Given the description of an element on the screen output the (x, y) to click on. 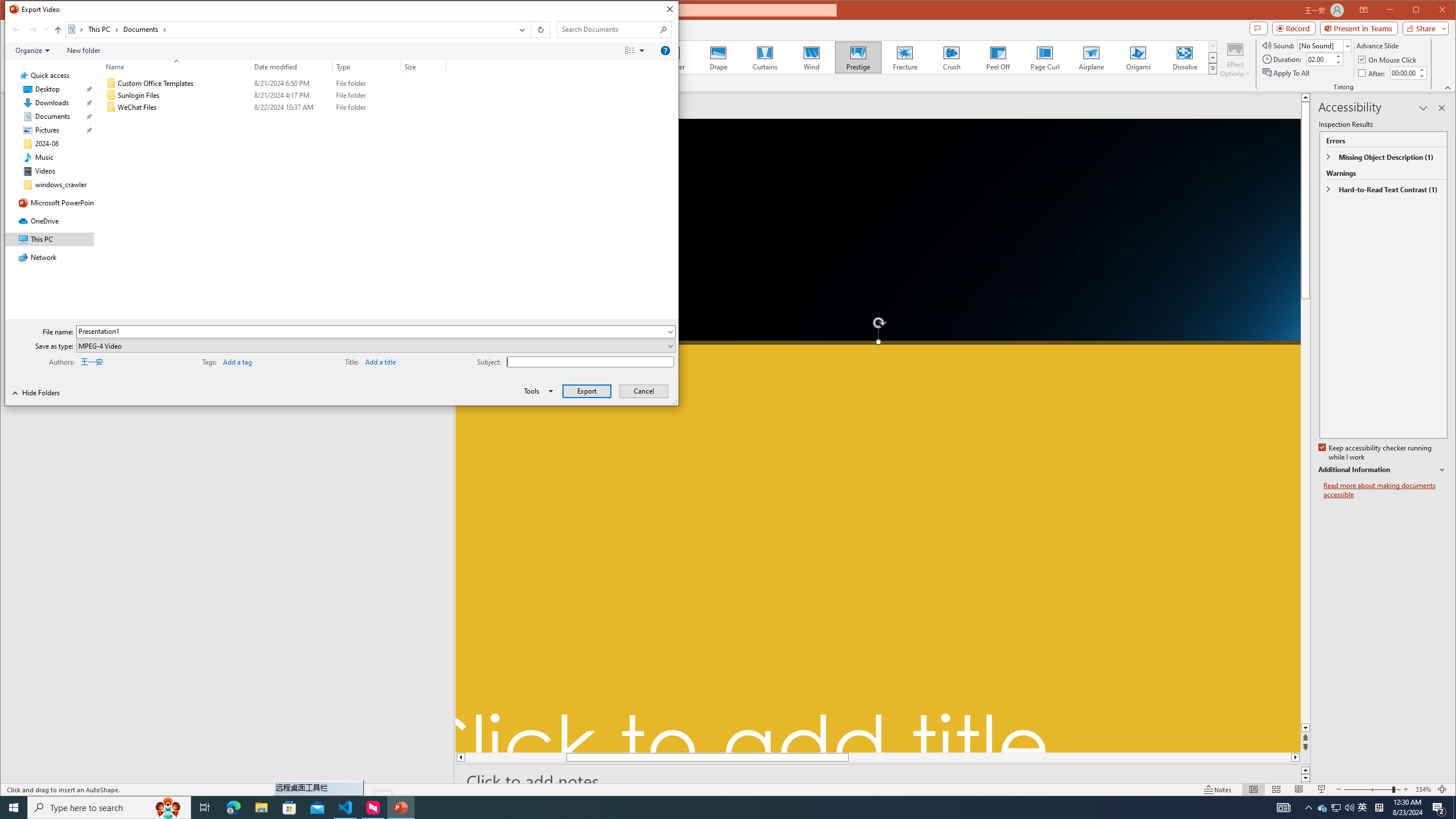
This PC (102, 29)
WeChat Files (273, 107)
Name (173, 66)
Address band toolbar (530, 29)
Navigation buttons (28, 29)
Filter dropdown (440, 66)
Page Curl (1045, 57)
Wind (810, 57)
Prestige (857, 57)
